Given the description of an element on the screen output the (x, y) to click on. 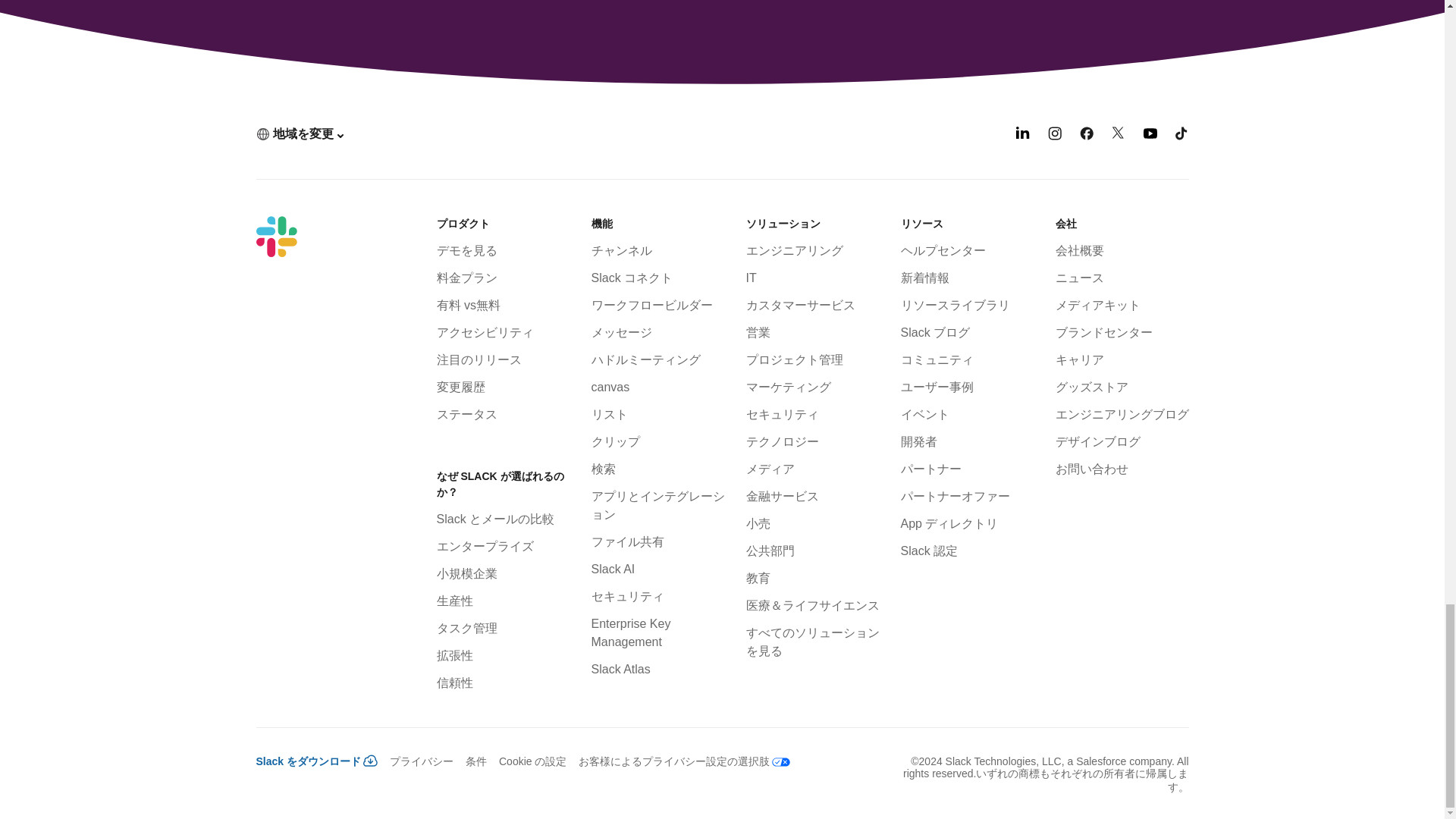
YouTube (1149, 135)
Slack (276, 236)
Facebook (1086, 135)
LinkedIn (1022, 135)
TikTok (1181, 135)
Instagram (1054, 135)
X (1118, 135)
